Given the description of an element on the screen output the (x, y) to click on. 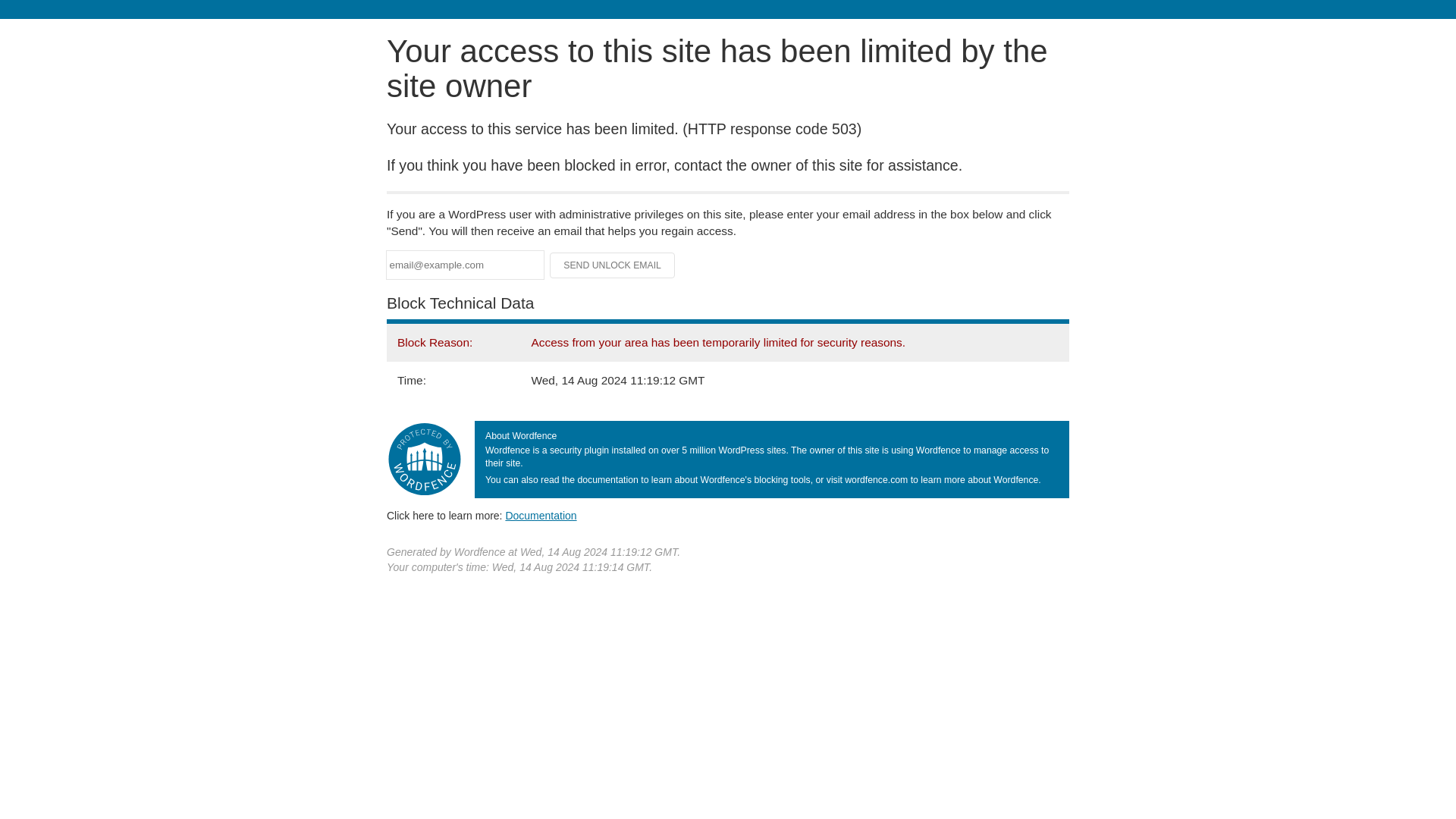
Send Unlock Email (612, 265)
Send Unlock Email (612, 265)
Documentation (540, 515)
